Given the description of an element on the screen output the (x, y) to click on. 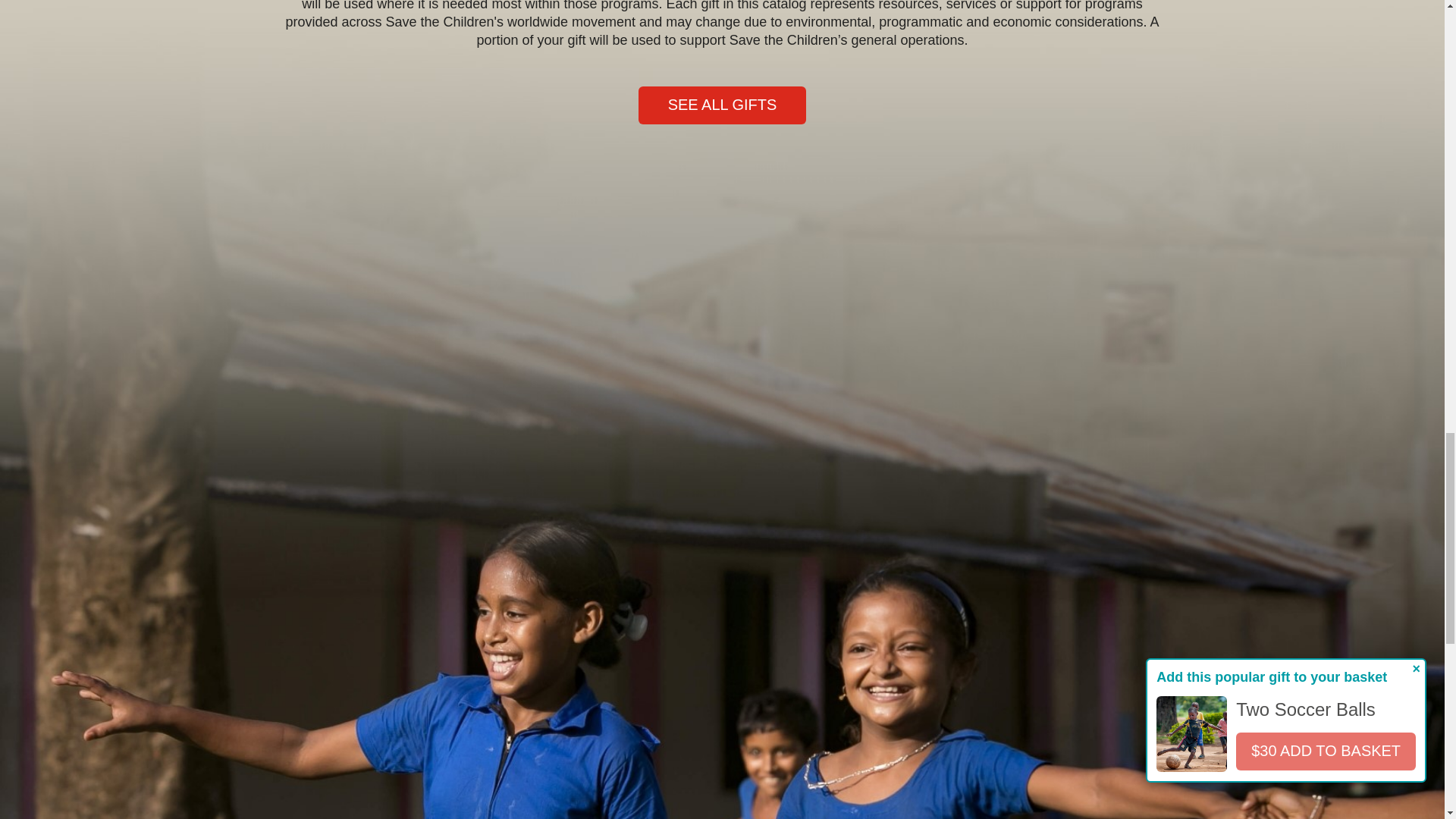
SEE ALL GIFTS (722, 105)
